Given the description of an element on the screen output the (x, y) to click on. 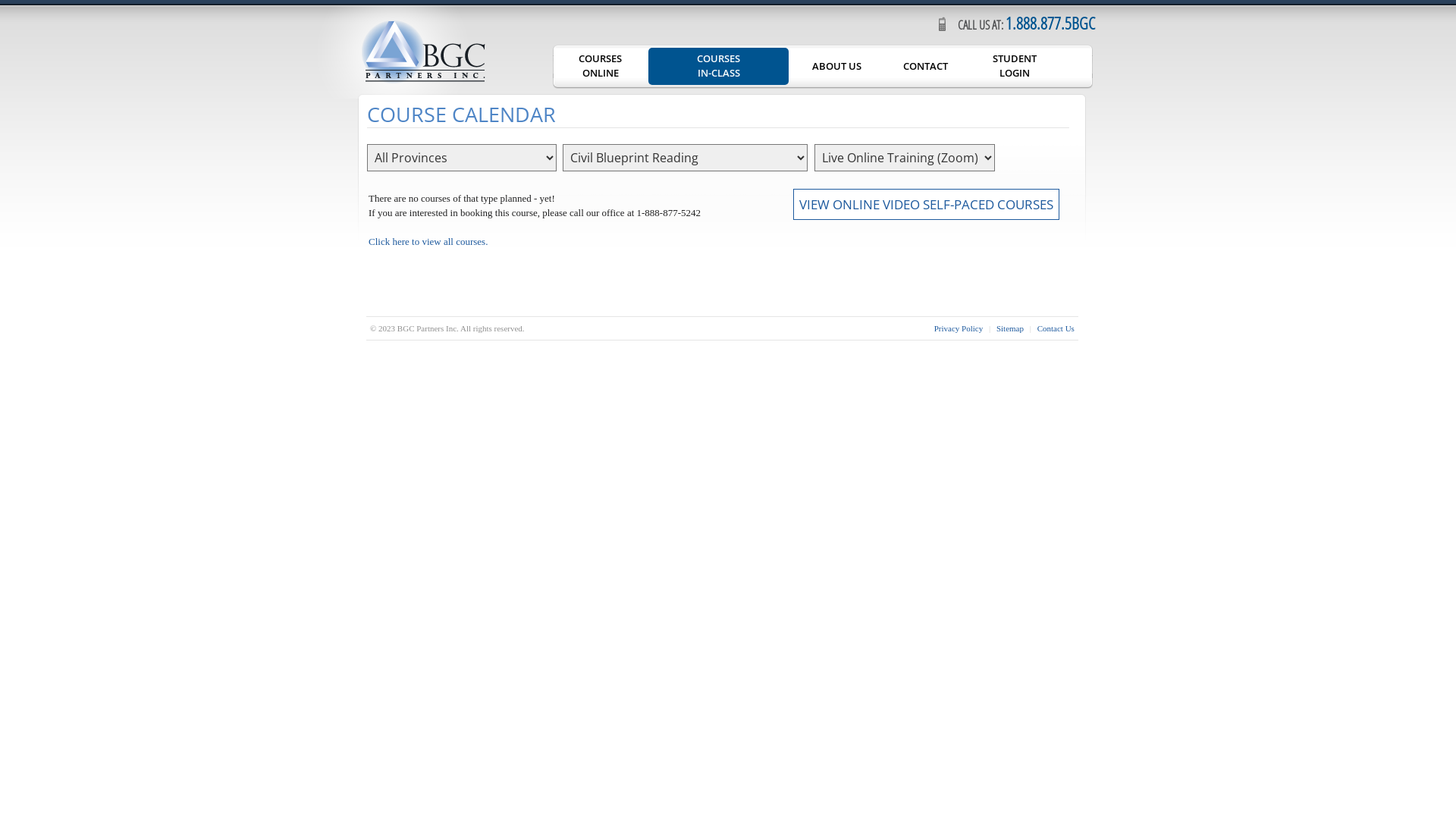
CONTACT Element type: text (925, 65)
Privacy Policy Element type: text (958, 327)
COURSES
IN-CLASS Element type: text (718, 65)
COURSES
ONLINE Element type: text (599, 65)
VIEW ONLINE VIDEO SELF-PACED COURSES Element type: text (926, 203)
Sitemap Element type: text (1009, 327)
Click here to view all courses. Element type: text (427, 241)
Contact Us Element type: text (1055, 327)
STUDENT
LOGIN Element type: text (1013, 65)
ABOUT US Element type: text (836, 65)
